Given the description of an element on the screen output the (x, y) to click on. 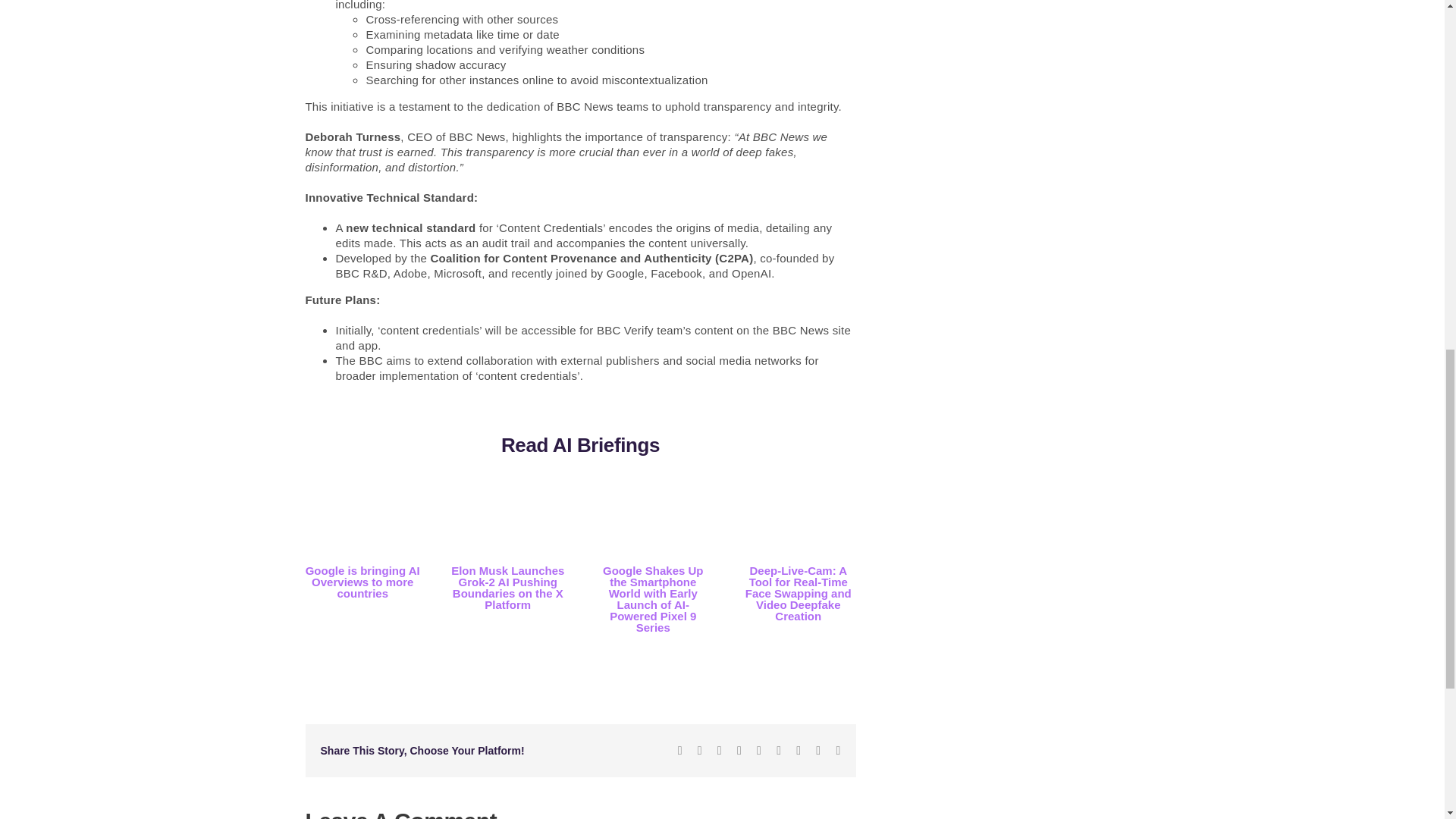
Google is bringing AI Overviews to more countries (362, 581)
